Given the description of an element on the screen output the (x, y) to click on. 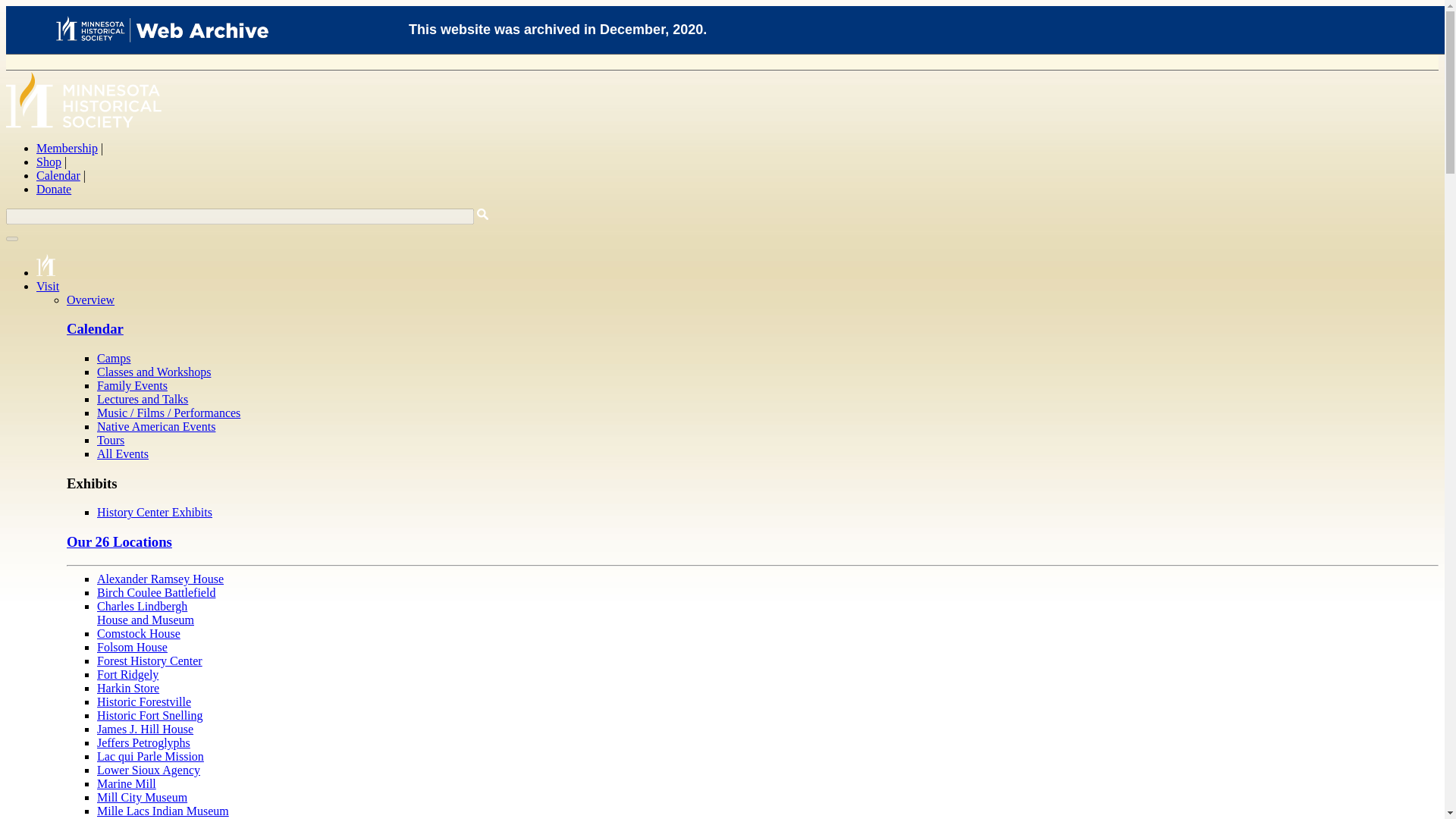
Tours (145, 612)
Alexander Ramsey House (110, 440)
Folsom House (160, 578)
Comstock House (132, 646)
Fort Ridgely (138, 633)
Lectures and Talks (127, 674)
Donate (142, 399)
Our 26 Locations (53, 187)
Jeffers Petroglyphs (118, 541)
